Given the description of an element on the screen output the (x, y) to click on. 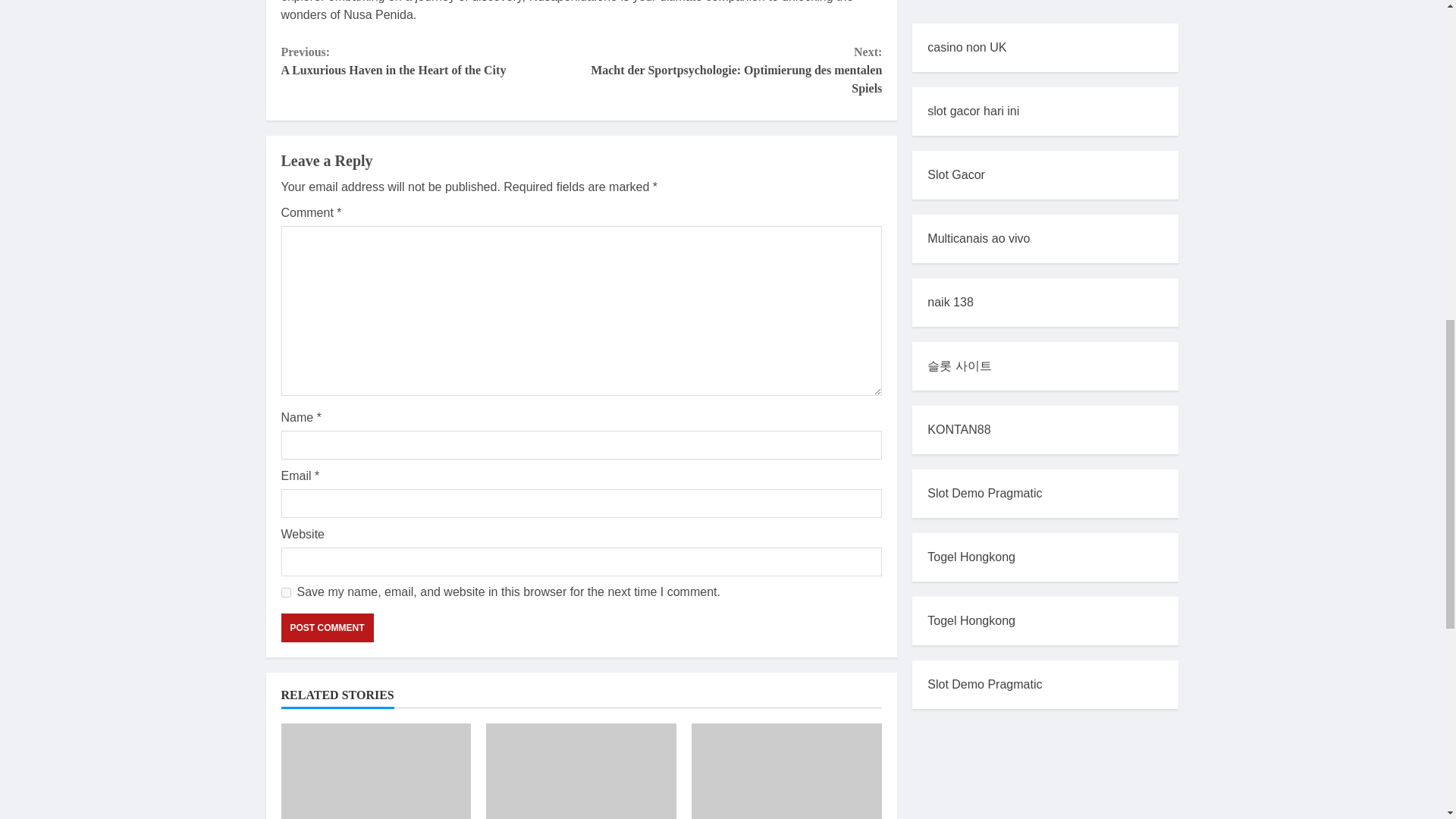
Slot Demo Pragmatic (984, 51)
Post Comment (430, 61)
Post Comment (326, 627)
yes (326, 627)
Un Tesoro da Collezionare (285, 592)
